Given the description of an element on the screen output the (x, y) to click on. 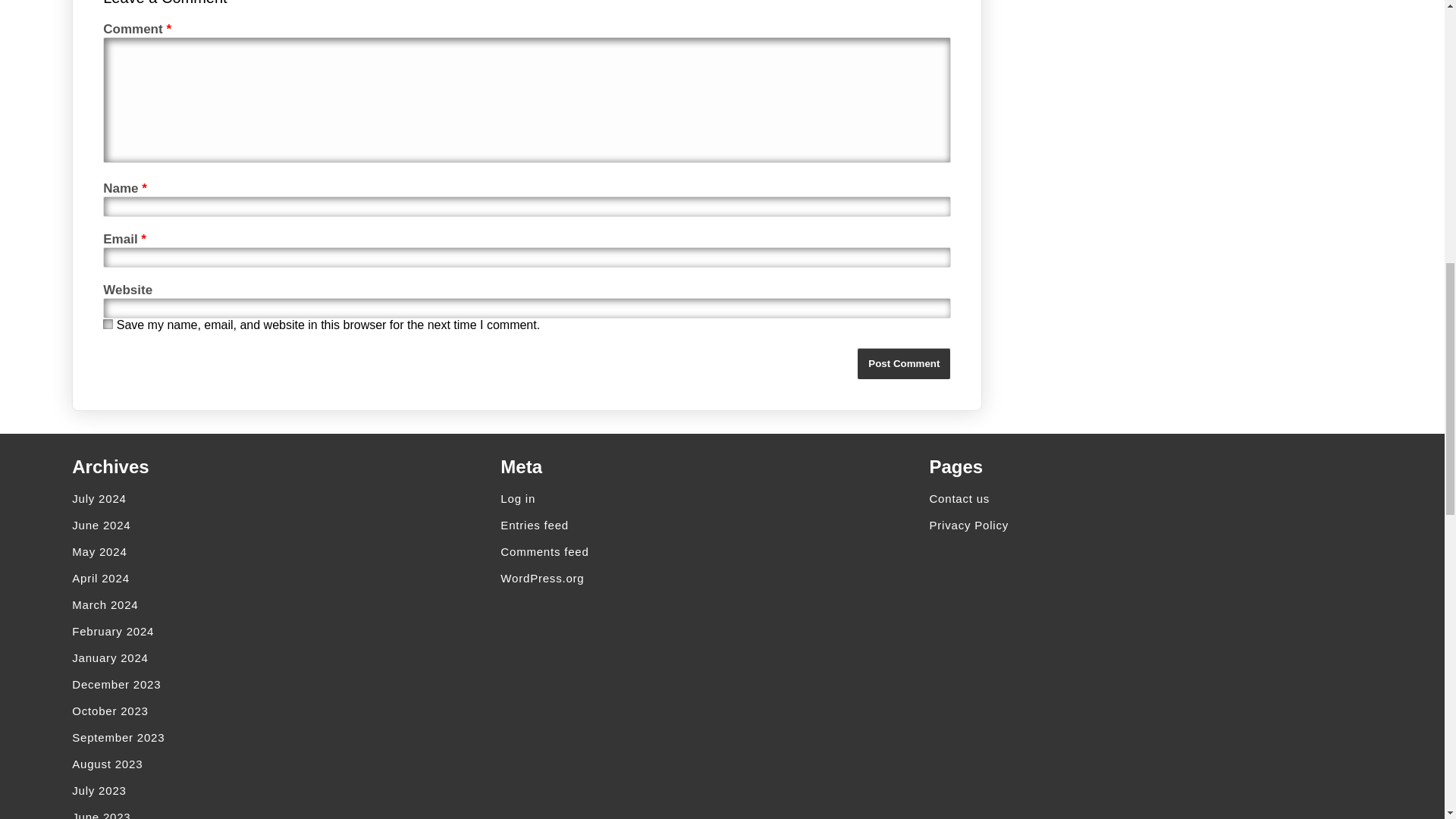
March 2024 (285, 604)
August 2023 (285, 764)
September 2023 (285, 737)
January 2024 (285, 657)
December 2023 (285, 683)
February 2024 (285, 631)
Post Comment (903, 363)
yes (108, 324)
May 2024 (285, 551)
June 2024 (285, 524)
July 2024 (285, 498)
April 2024 (285, 578)
June 2023 (285, 811)
Post Comment (903, 363)
October 2023 (285, 710)
